Given the description of an element on the screen output the (x, y) to click on. 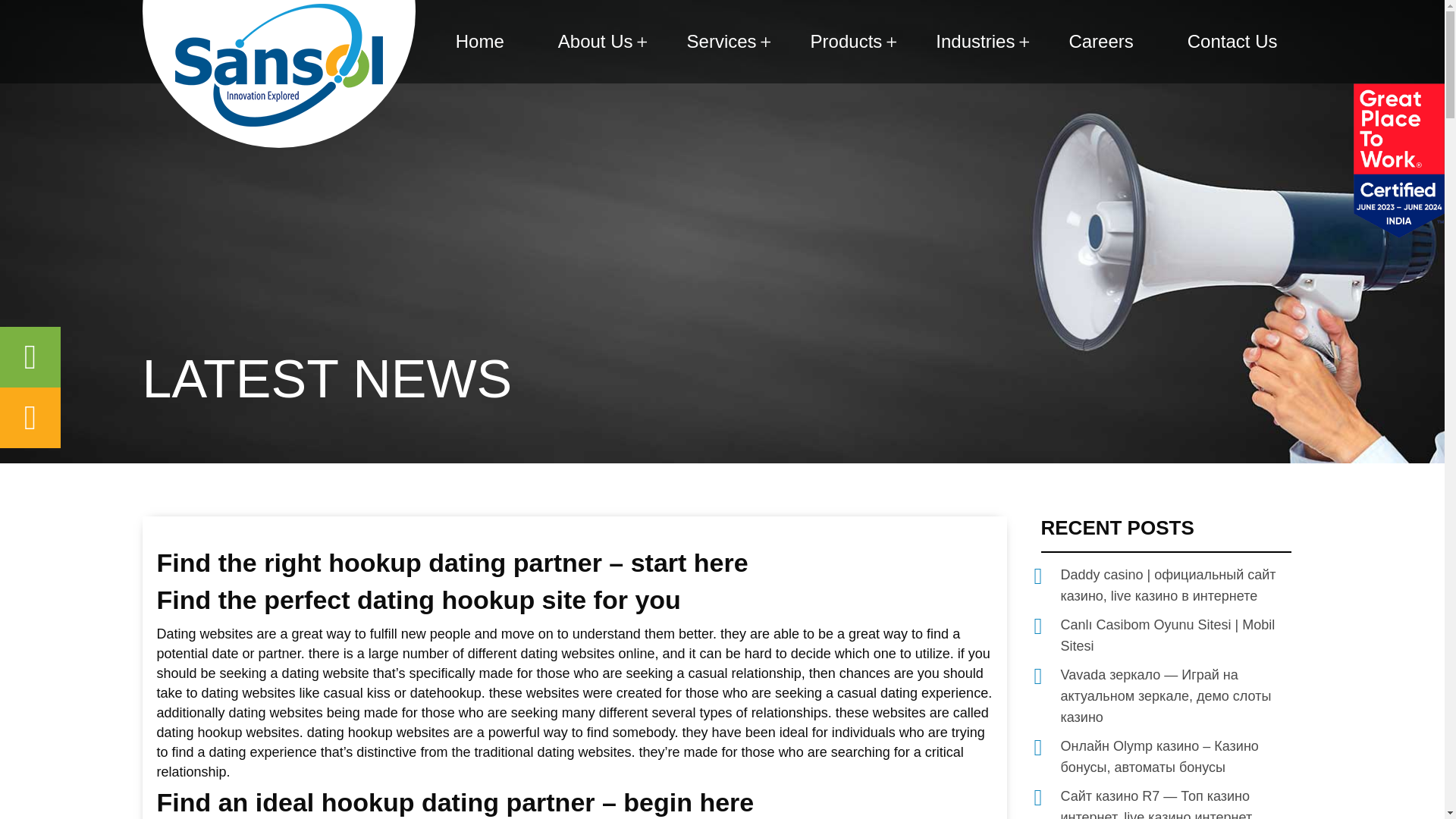
Home (479, 41)
Services (721, 41)
About Us (595, 41)
